Given the description of an element on the screen output the (x, y) to click on. 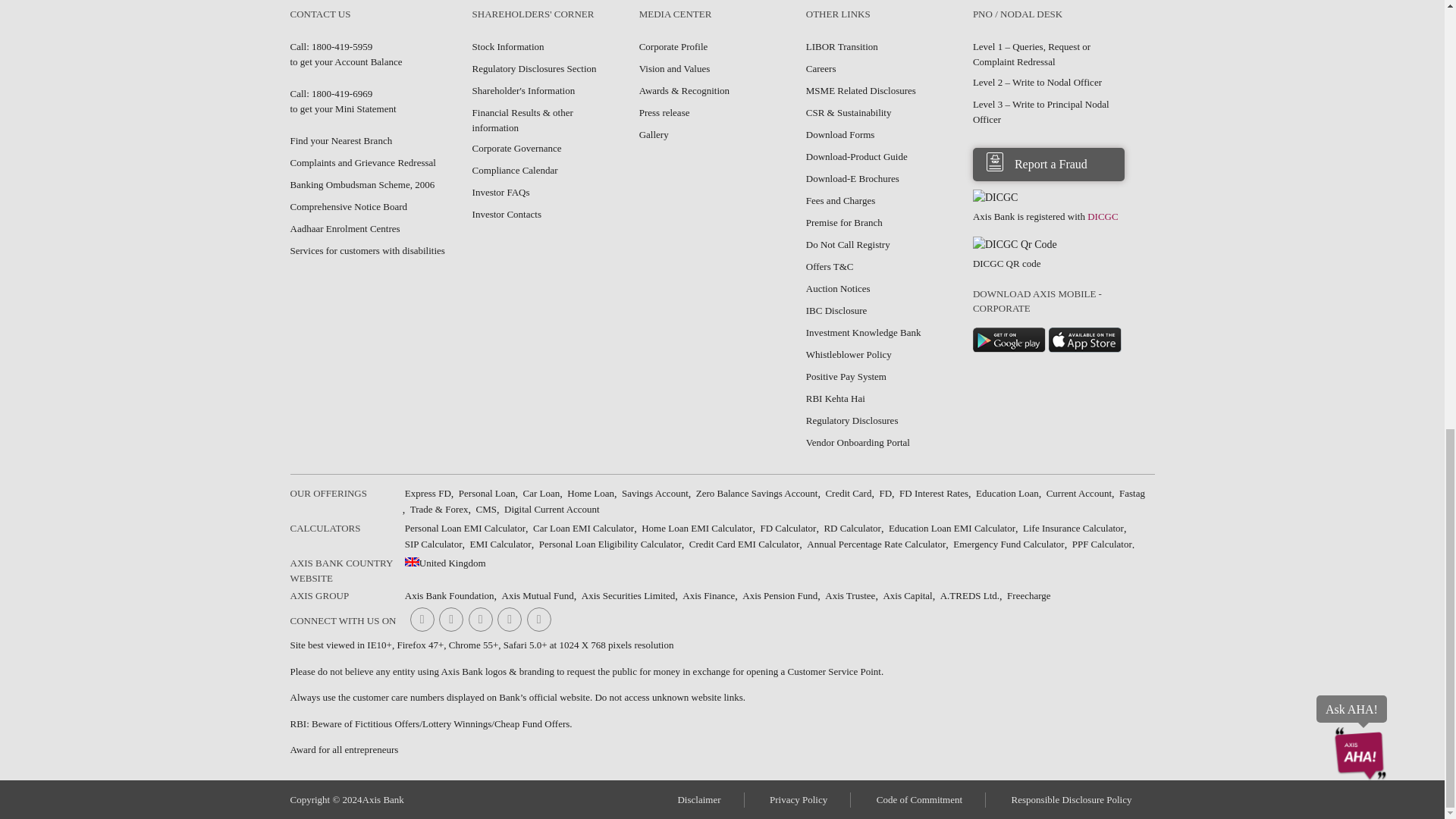
DICGC Qr Code (1014, 244)
 to get your Mini Statement (330, 93)
DICGC (994, 197)
 to get your Account Balance (330, 46)
